Given the description of an element on the screen output the (x, y) to click on. 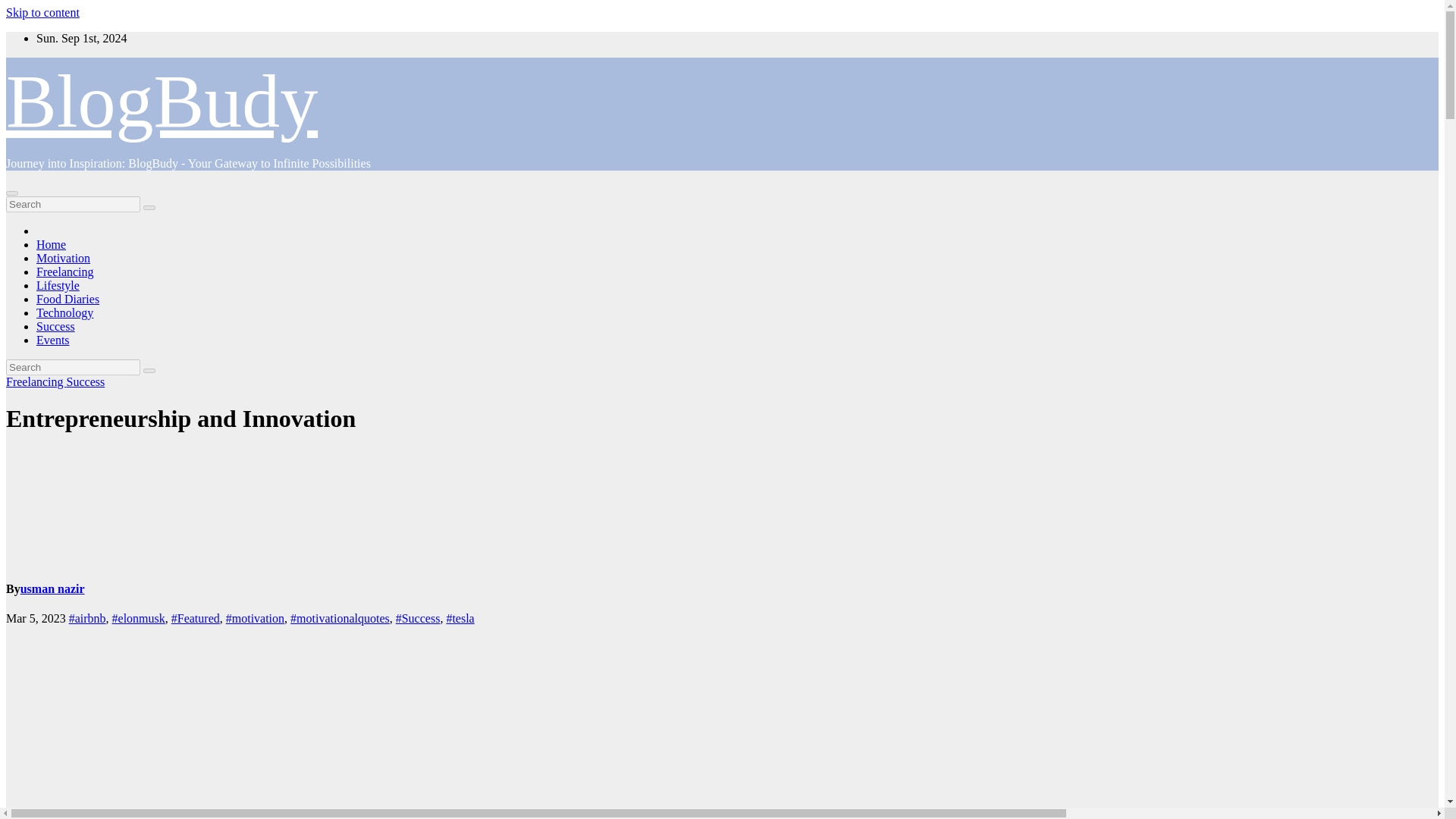
Freelancing (35, 381)
Permalink to: Entrepreneurship and Innovation (180, 418)
Lifestyle (58, 285)
Freelancing (65, 271)
Home (50, 244)
Events (52, 339)
Home (50, 244)
Entrepreneurship and Innovation (180, 418)
Motivation (63, 257)
Success (55, 326)
